Given the description of an element on the screen output the (x, y) to click on. 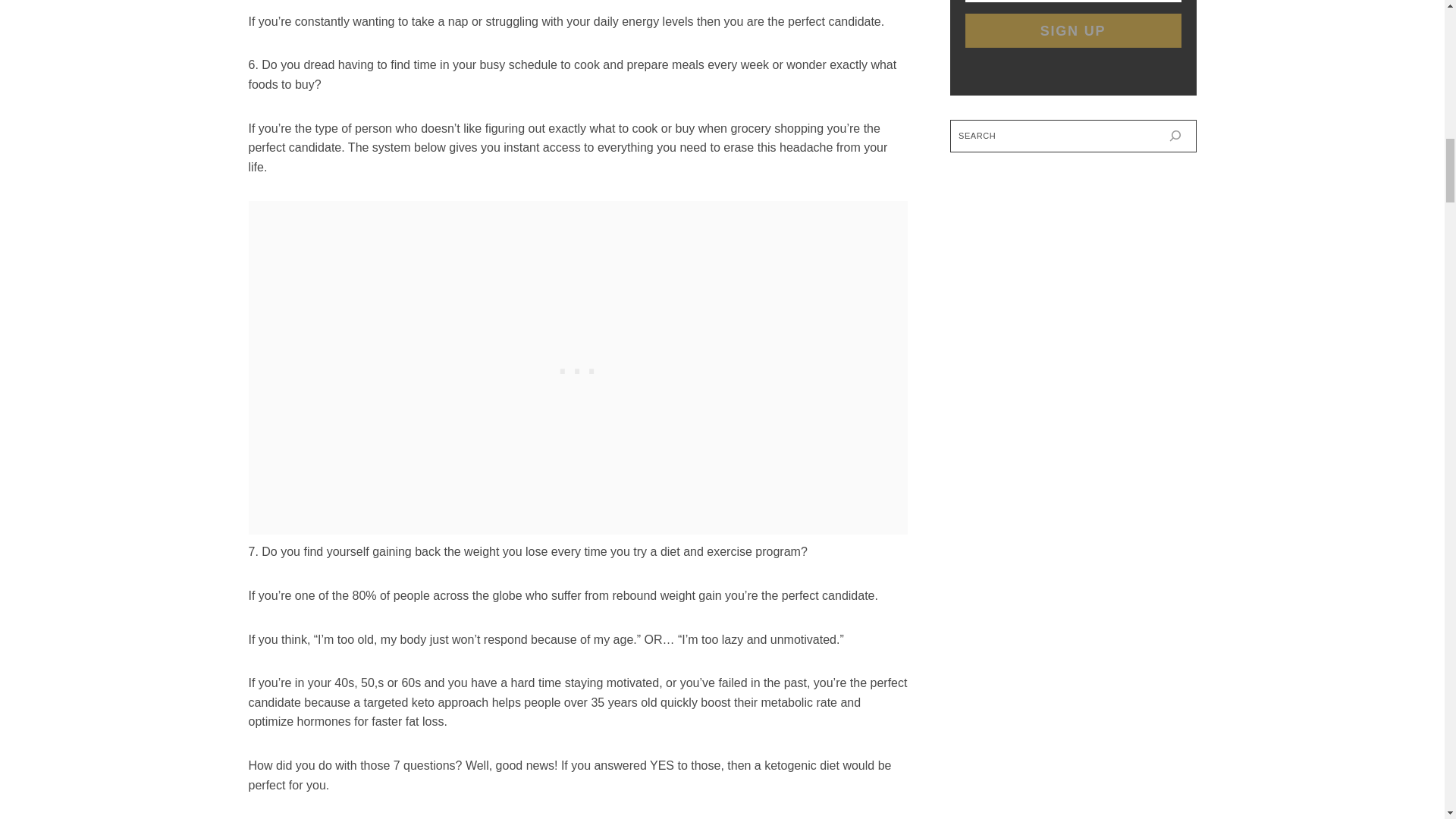
Sign up (1071, 30)
